Given the description of an element on the screen output the (x, y) to click on. 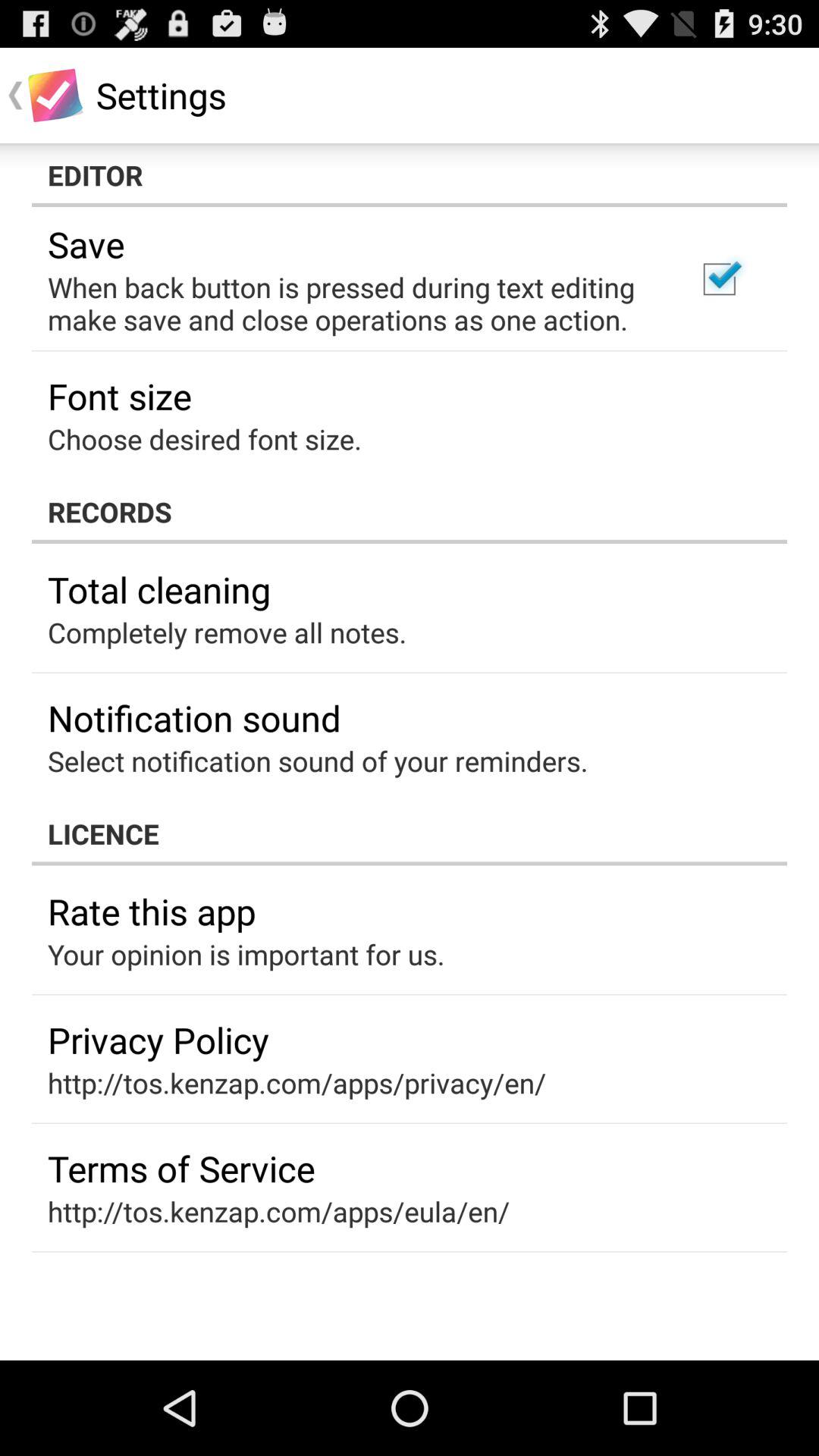
turn off records item (409, 511)
